Given the description of an element on the screen output the (x, y) to click on. 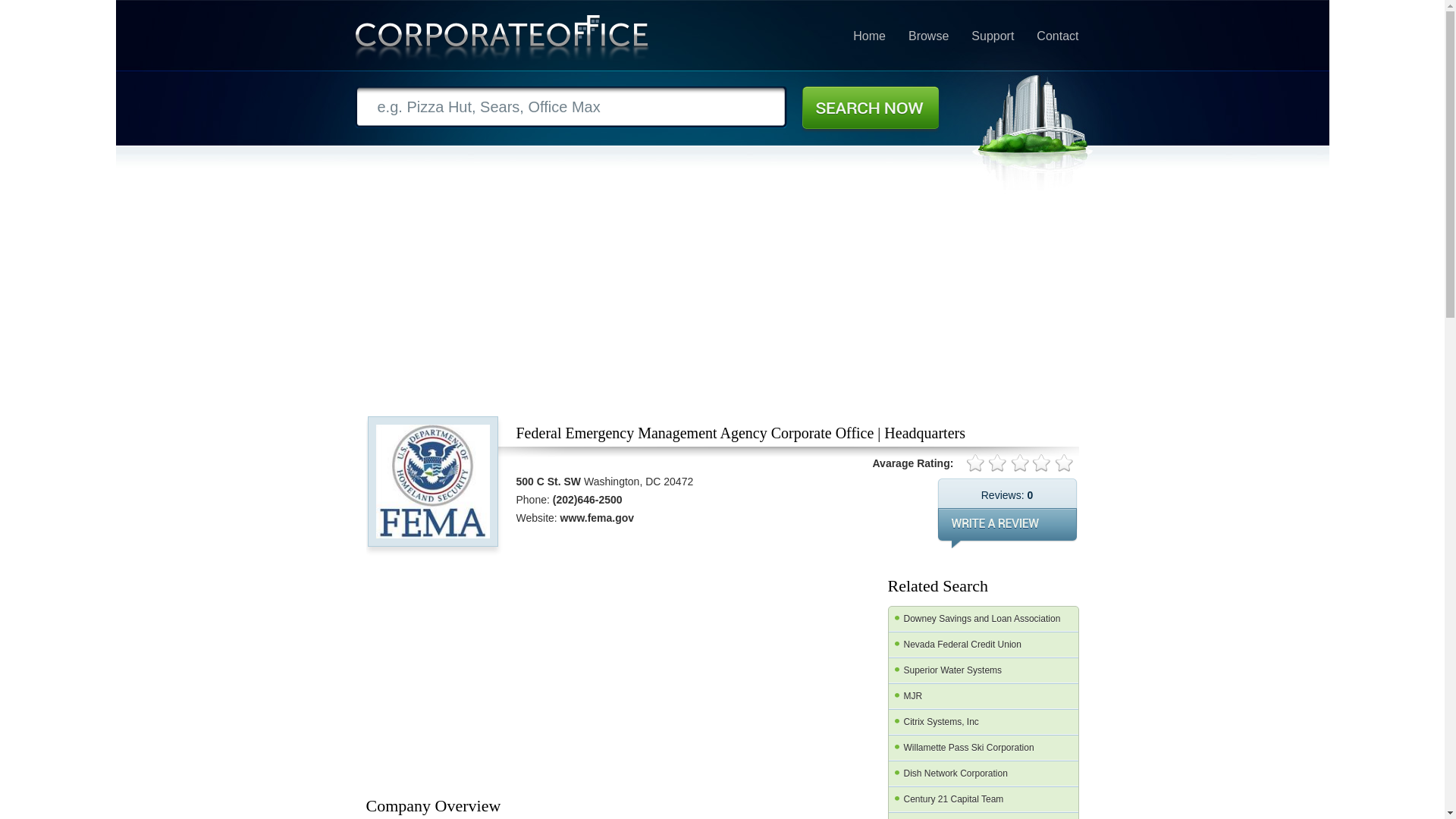
Advertisement (724, 673)
Support (992, 36)
Corporate Office (502, 40)
www.fema.gov (597, 517)
Nevada Federal Credit Union (983, 644)
Home (868, 36)
Century 21 Capital Team (983, 799)
Citrix Systems, Inc (983, 722)
e.g. Pizza Hut, Sears, Office Max (571, 106)
